Given the description of an element on the screen output the (x, y) to click on. 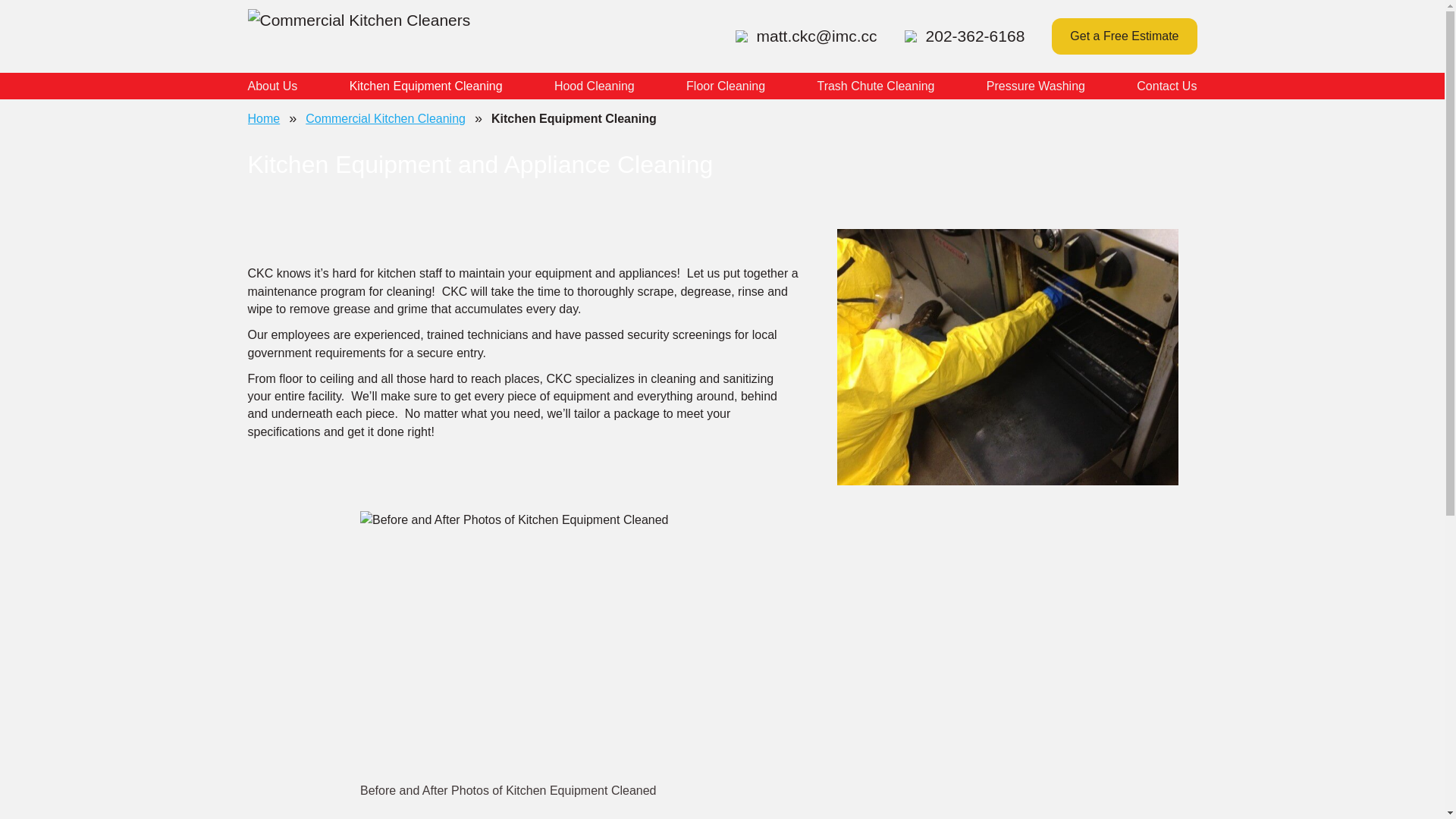
Pressure Washing (1035, 85)
Commercial Kitchen Cleaning (385, 118)
Home (263, 118)
202-362-6168 (964, 36)
Commercial Kitchen Cleaning (385, 118)
Call Us (964, 36)
Kitchen Equipment Cleaning (574, 118)
Home (263, 118)
Contact Us (1166, 85)
Floor Cleaning (725, 85)
